Given the description of an element on the screen output the (x, y) to click on. 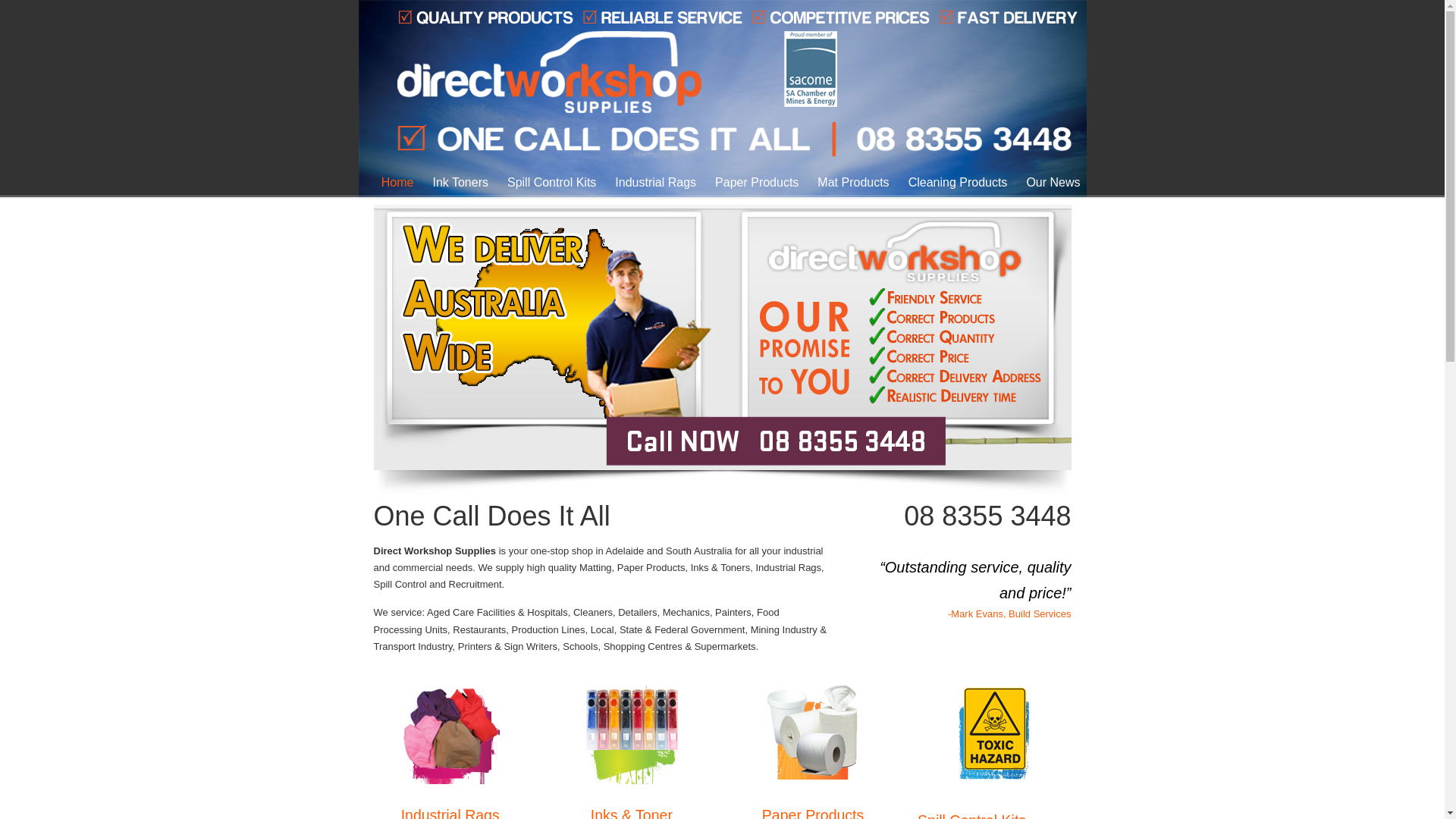
Home Element type: text (393, 182)
Mat Products Element type: text (848, 182)
Cleaning Products Element type: text (953, 182)
Our News Element type: text (1047, 182)
Industrial Rags Element type: text (650, 182)
Ink Toners Element type: text (455, 182)
Spill Control Kits Element type: text (547, 182)
Paper Products Element type: text (751, 182)
